Given the description of an element on the screen output the (x, y) to click on. 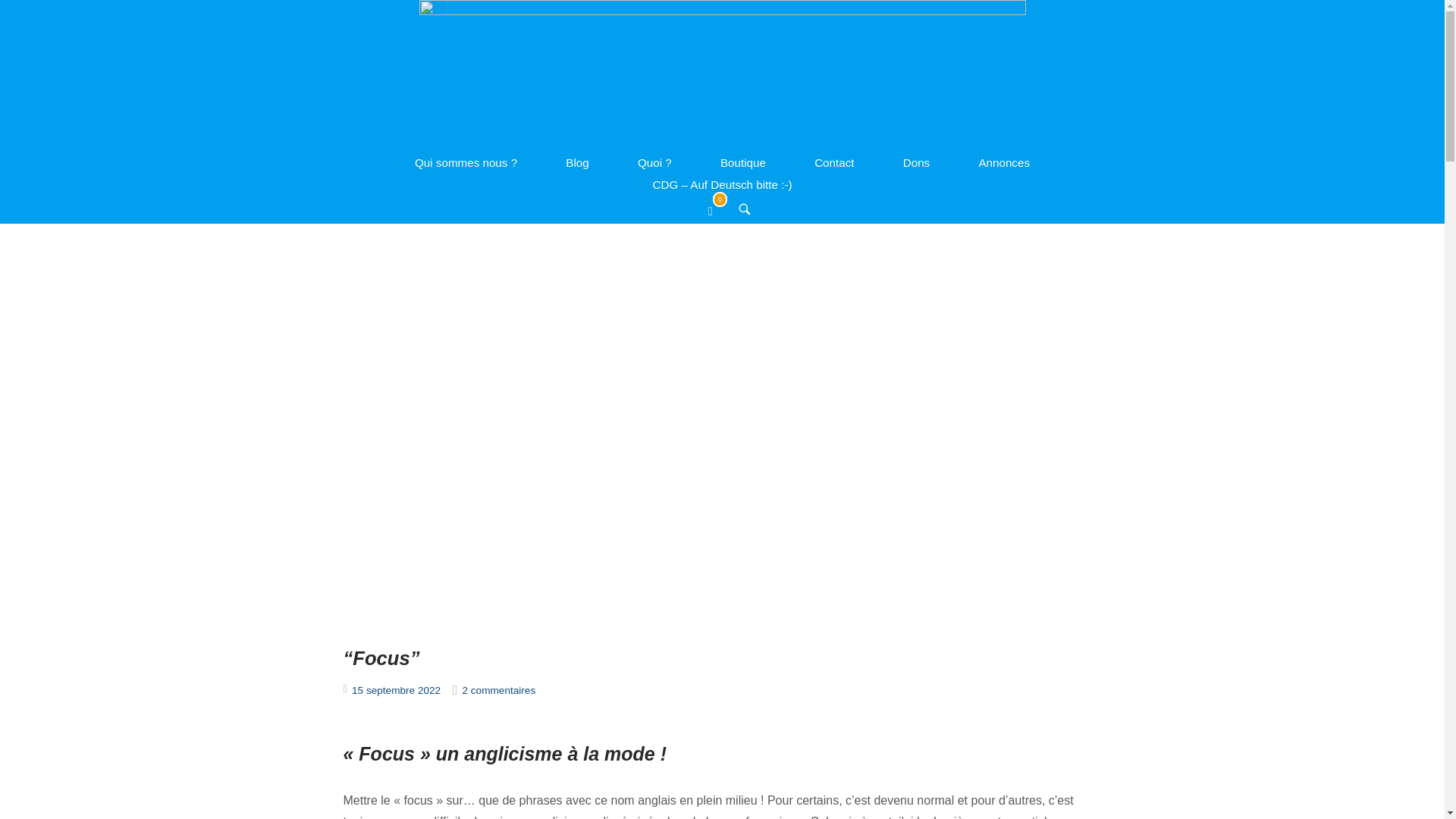
Home Element type: text (721, 74)
Dons Element type: text (916, 162)
View shopping cart
0 Element type: text (718, 209)
Annonces Element type: text (1003, 162)
OPEN SEARCH BAR Element type: text (744, 210)
15 septembre 2022 Element type: text (395, 690)
Qui sommes nous ? Element type: text (465, 162)
Contact Element type: text (833, 162)
Boutique Element type: text (742, 162)
Quoi ? Element type: text (654, 162)
Blog Element type: text (576, 162)
2 commentaires Element type: text (498, 690)
